Given the description of an element on the screen output the (x, y) to click on. 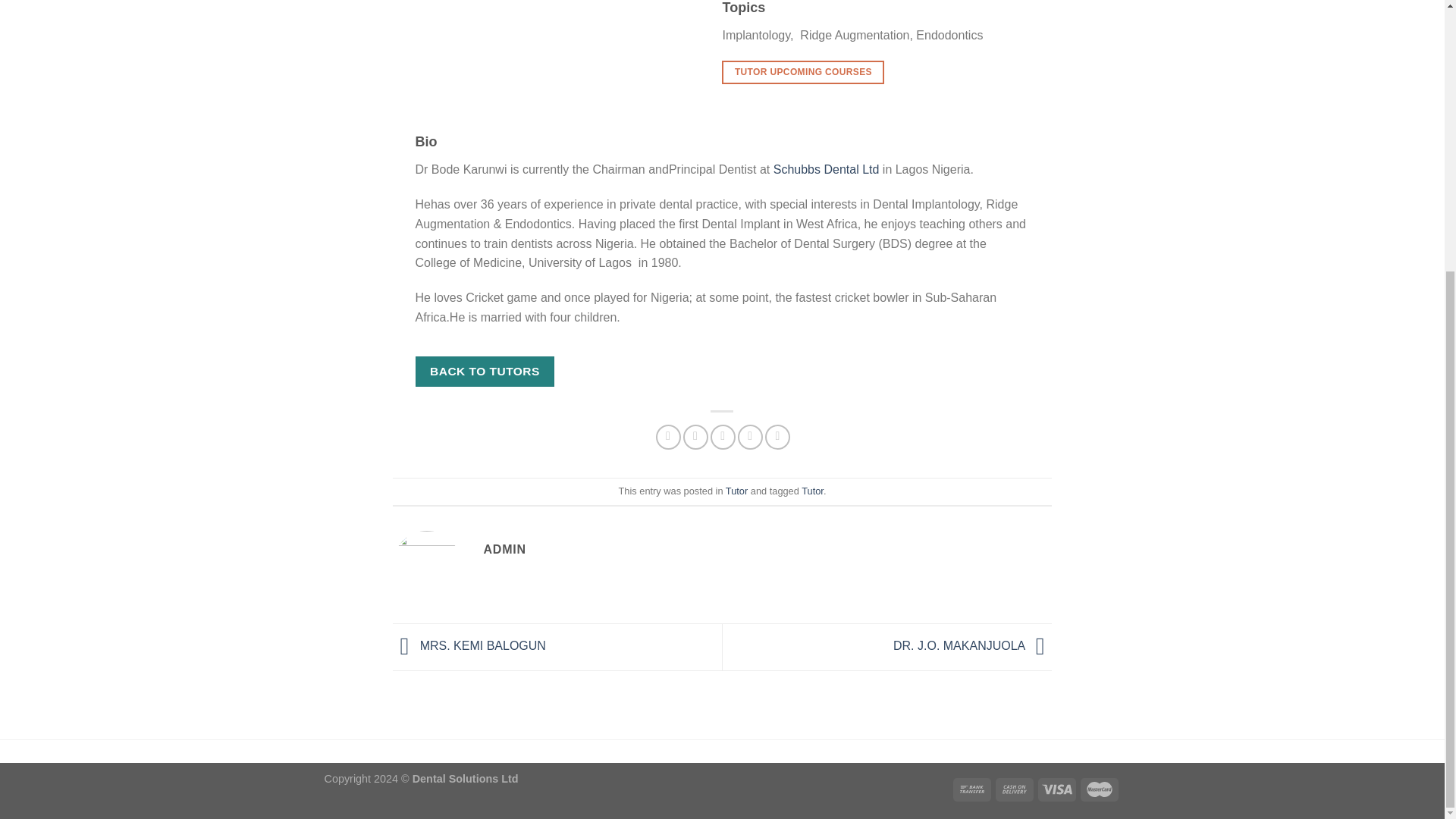
Tutor (736, 490)
MRS. KEMI BALOGUN (469, 645)
Pin on Pinterest (750, 437)
Schubbs Dental Ltd (826, 169)
BACK TO TUTORS (484, 370)
Share on Twitter (694, 437)
Tutor (813, 490)
Share on LinkedIn (777, 437)
Email to a Friend (722, 437)
TUTOR UPCOMING COURSES (802, 71)
